Given the description of an element on the screen output the (x, y) to click on. 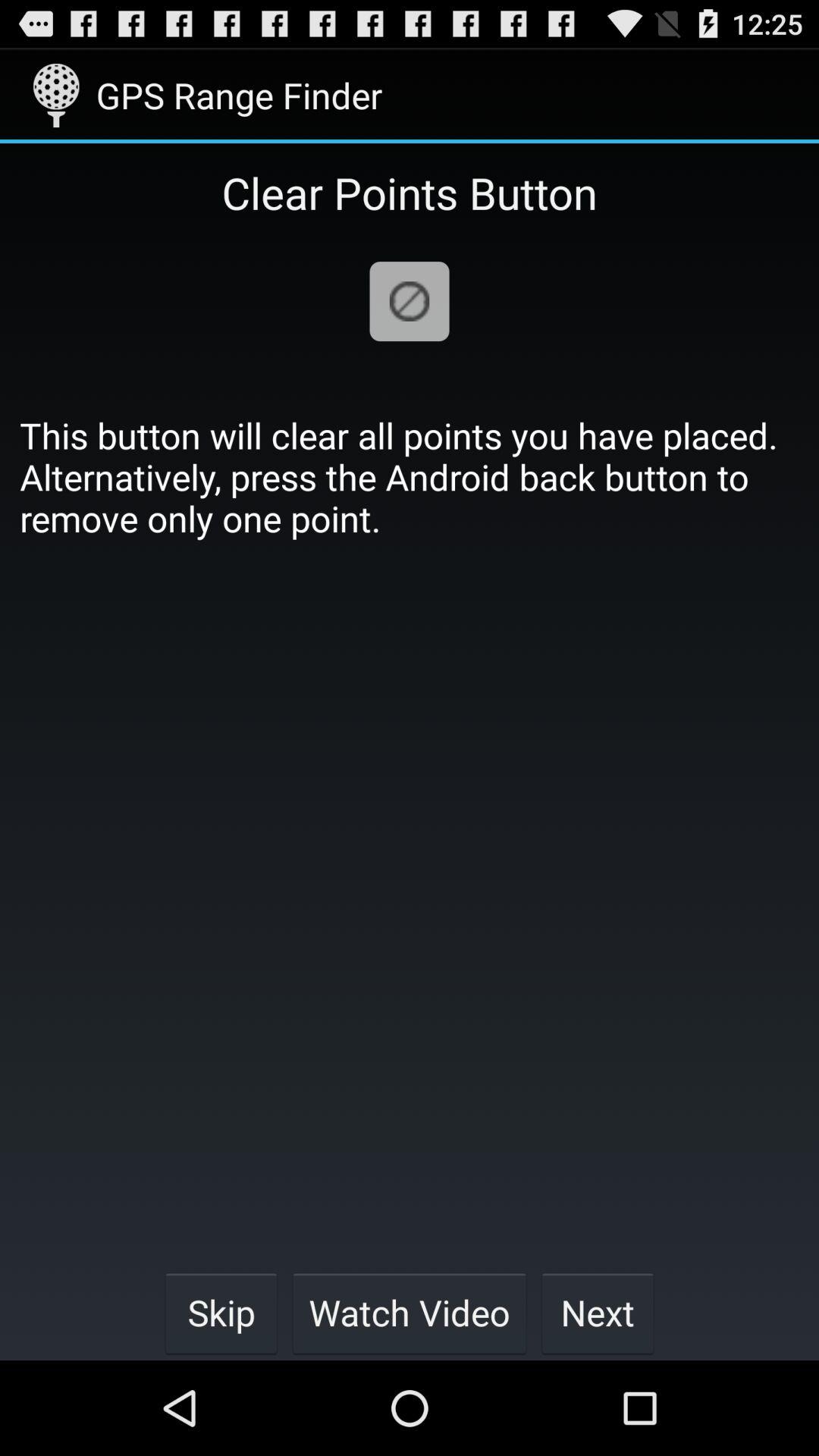
launch skip at the bottom left corner (220, 1312)
